Given the description of an element on the screen output the (x, y) to click on. 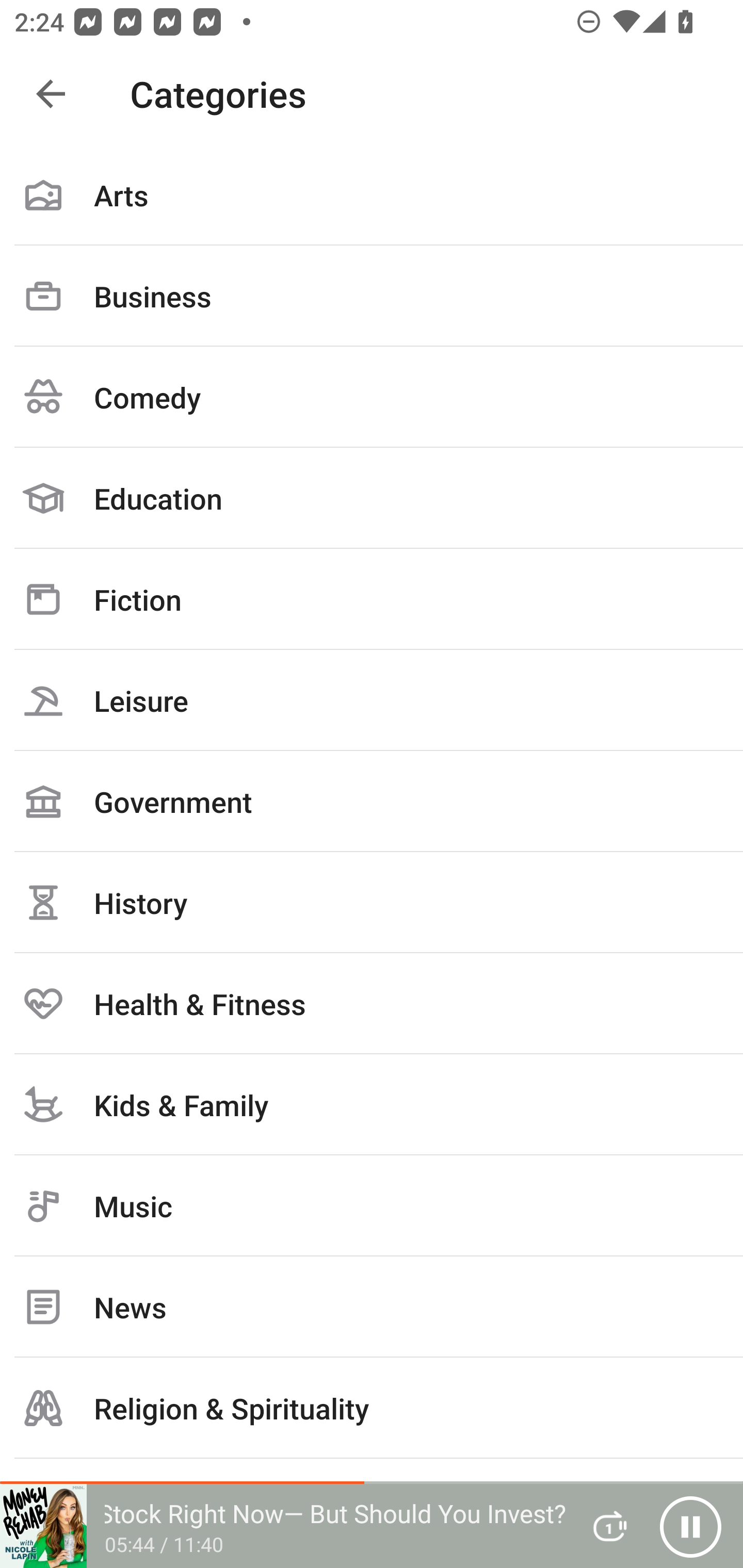
Navigate up (50, 93)
Arts (371, 195)
Business (371, 296)
Comedy (371, 397)
Education (371, 498)
Fiction (371, 598)
Leisure (371, 700)
Government (371, 801)
History (371, 902)
Health & Fitness (371, 1003)
Kids & Family (371, 1104)
Music (371, 1205)
News (371, 1306)
Religion & Spirituality (371, 1407)
Pause (690, 1526)
